Given the description of an element on the screen output the (x, y) to click on. 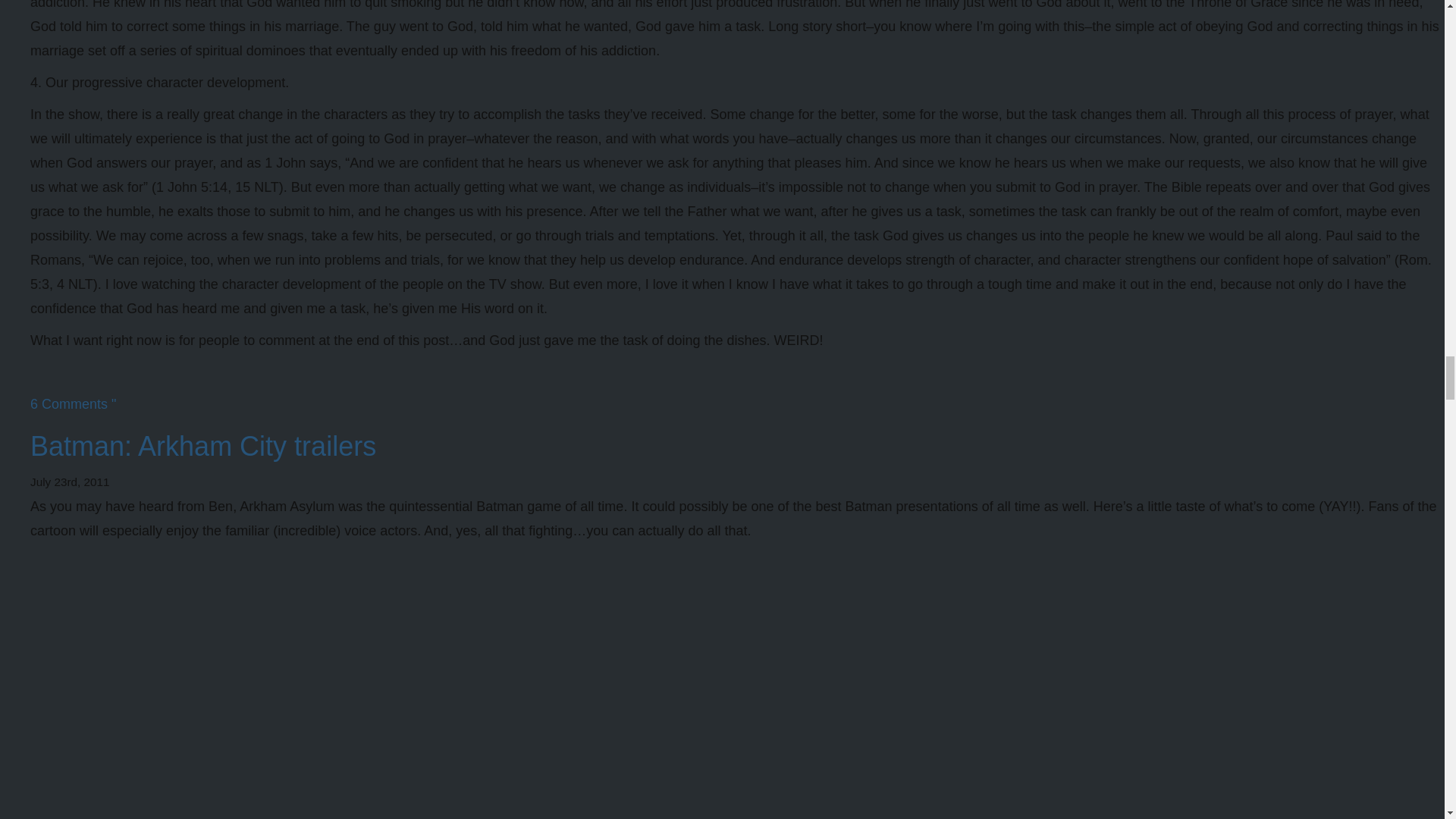
6 Comments " (73, 403)
Batman: Arkham City trailers (202, 445)
